Given the description of an element on the screen output the (x, y) to click on. 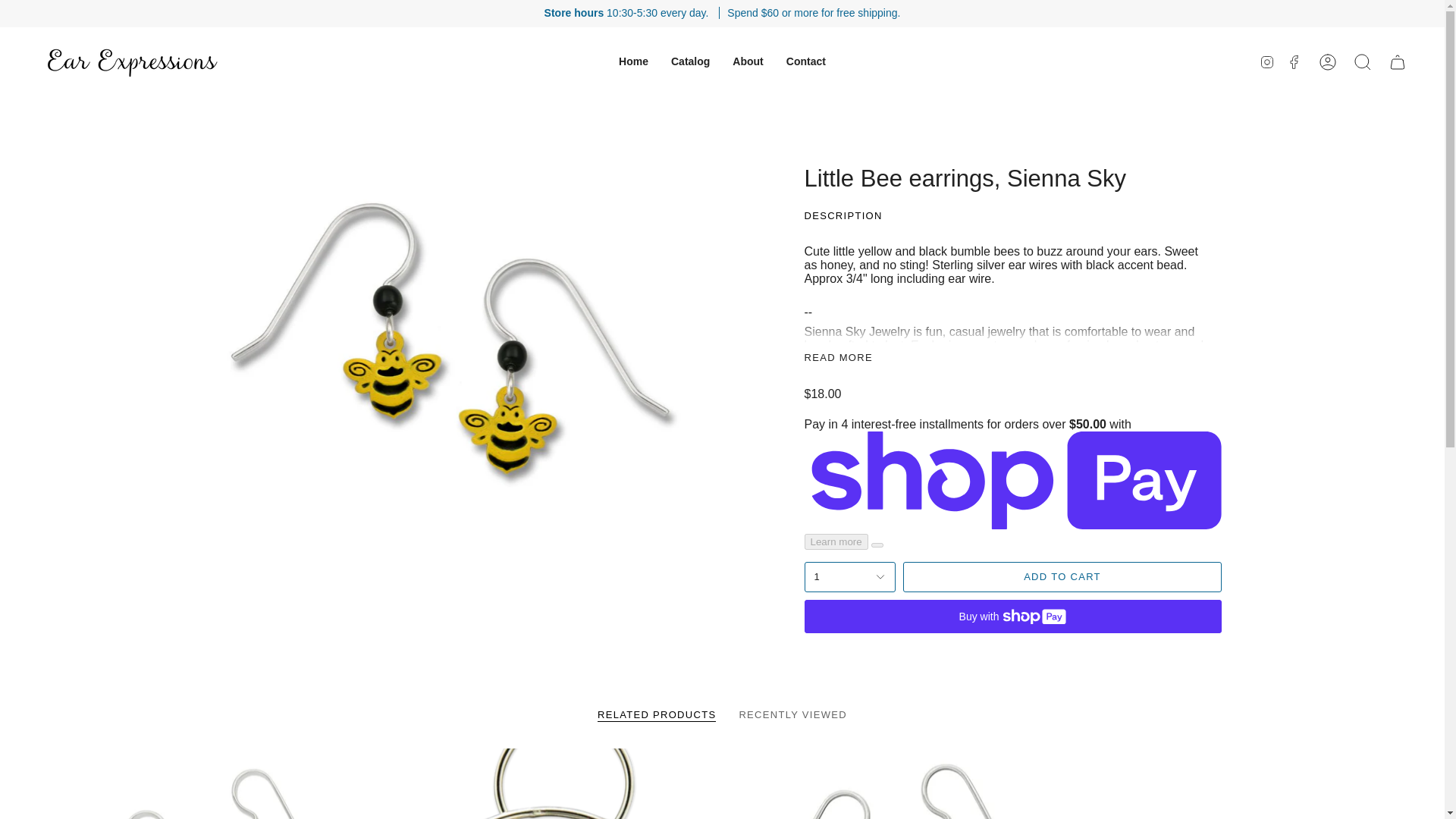
EarExpressions on Instagram (1267, 60)
Search (1362, 62)
Instagram (1267, 60)
Account (1327, 62)
Catalog (689, 61)
Facebook (1294, 60)
EarExpressions on Facebook (1294, 60)
Cart (1397, 62)
About (747, 61)
My Account (1327, 62)
Home (633, 61)
Contact (805, 61)
Cart (1397, 62)
